Given the description of an element on the screen output the (x, y) to click on. 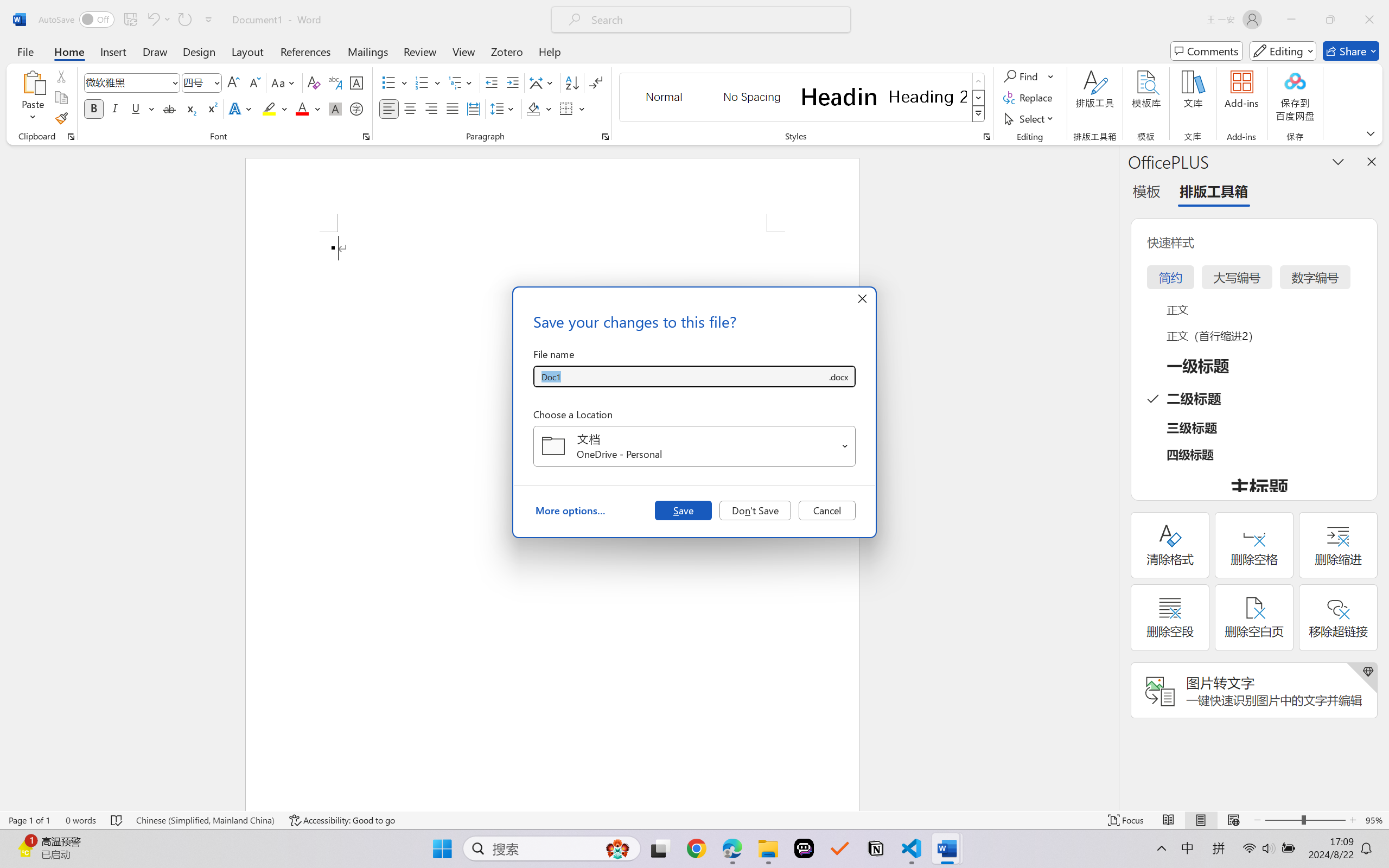
AutomationID: QuickStylesGallery (802, 97)
Repeat Style (184, 19)
